Given the description of an element on the screen output the (x, y) to click on. 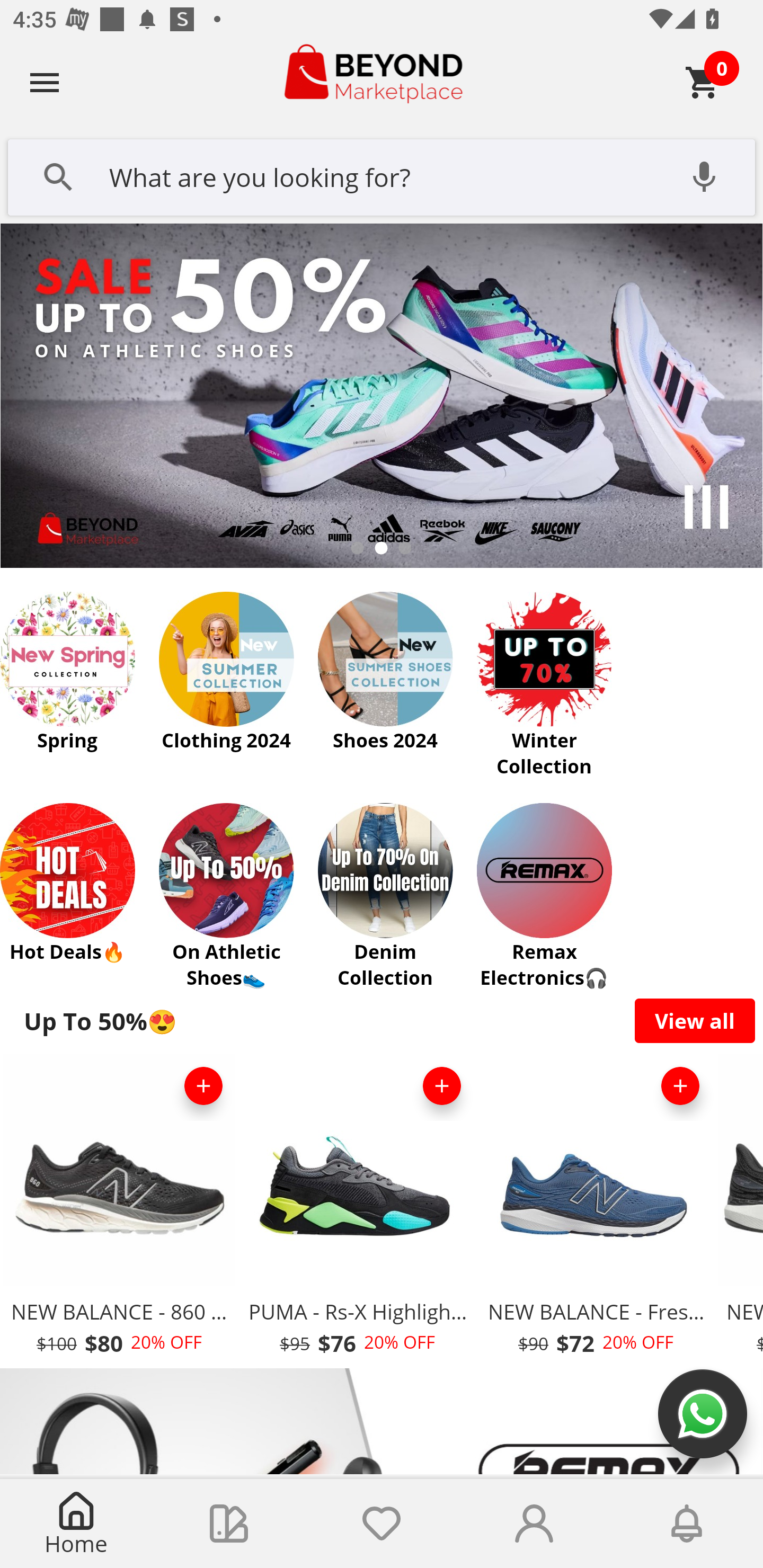
Navigate up (44, 82)
What are you looking for? (381, 175)
View all (694, 1020)
NEW BALANCE - 860 Running Shoes $100 $80 20% OFF (119, 1209)
Collections (228, 1523)
Wishlist (381, 1523)
Account (533, 1523)
Notifications (686, 1523)
